Given the description of an element on the screen output the (x, y) to click on. 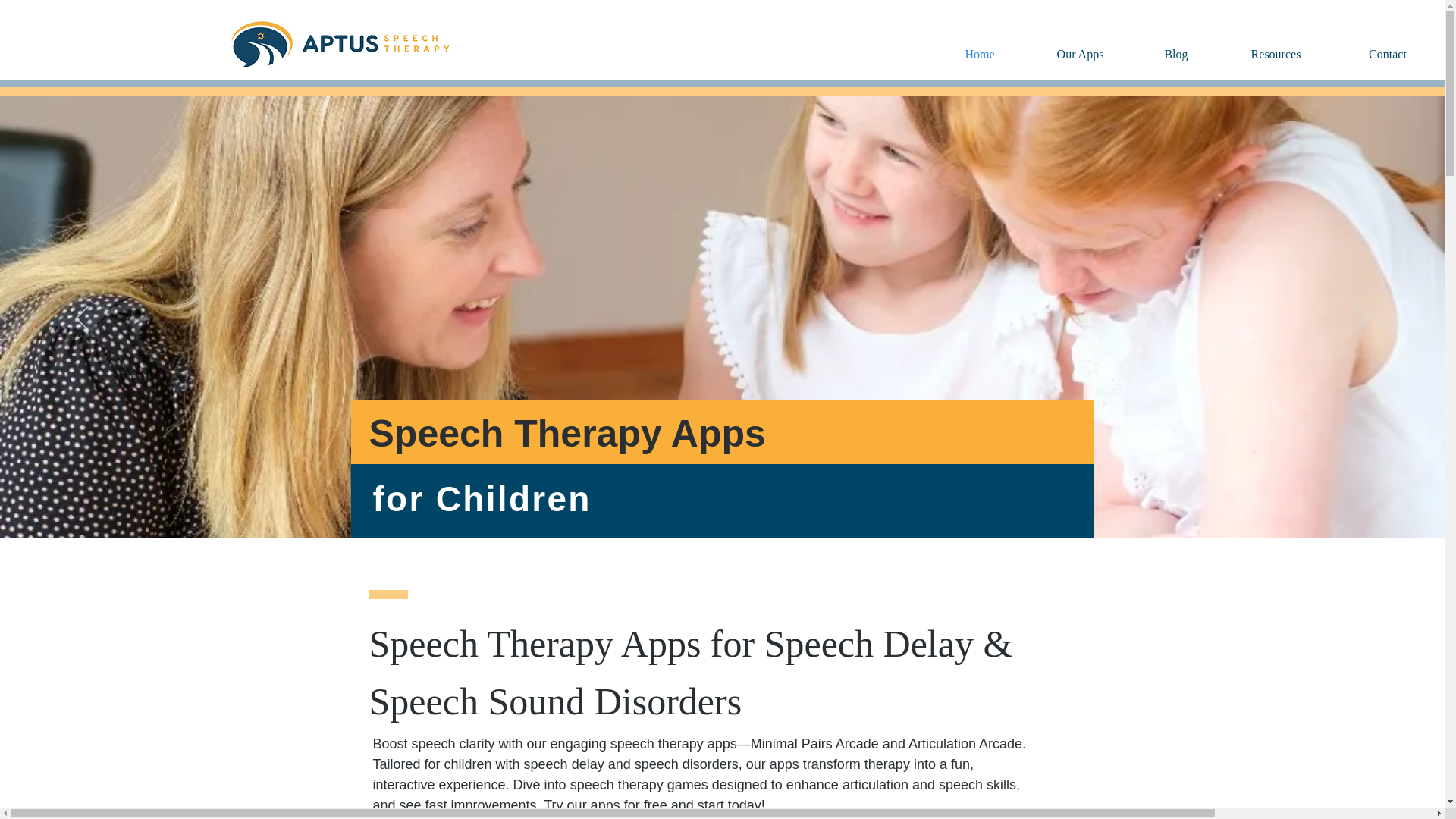
Resources (1275, 54)
Contact (1387, 54)
Speech Therapy Apps (566, 433)
Blog (1175, 54)
Home (979, 54)
